Given the description of an element on the screen output the (x, y) to click on. 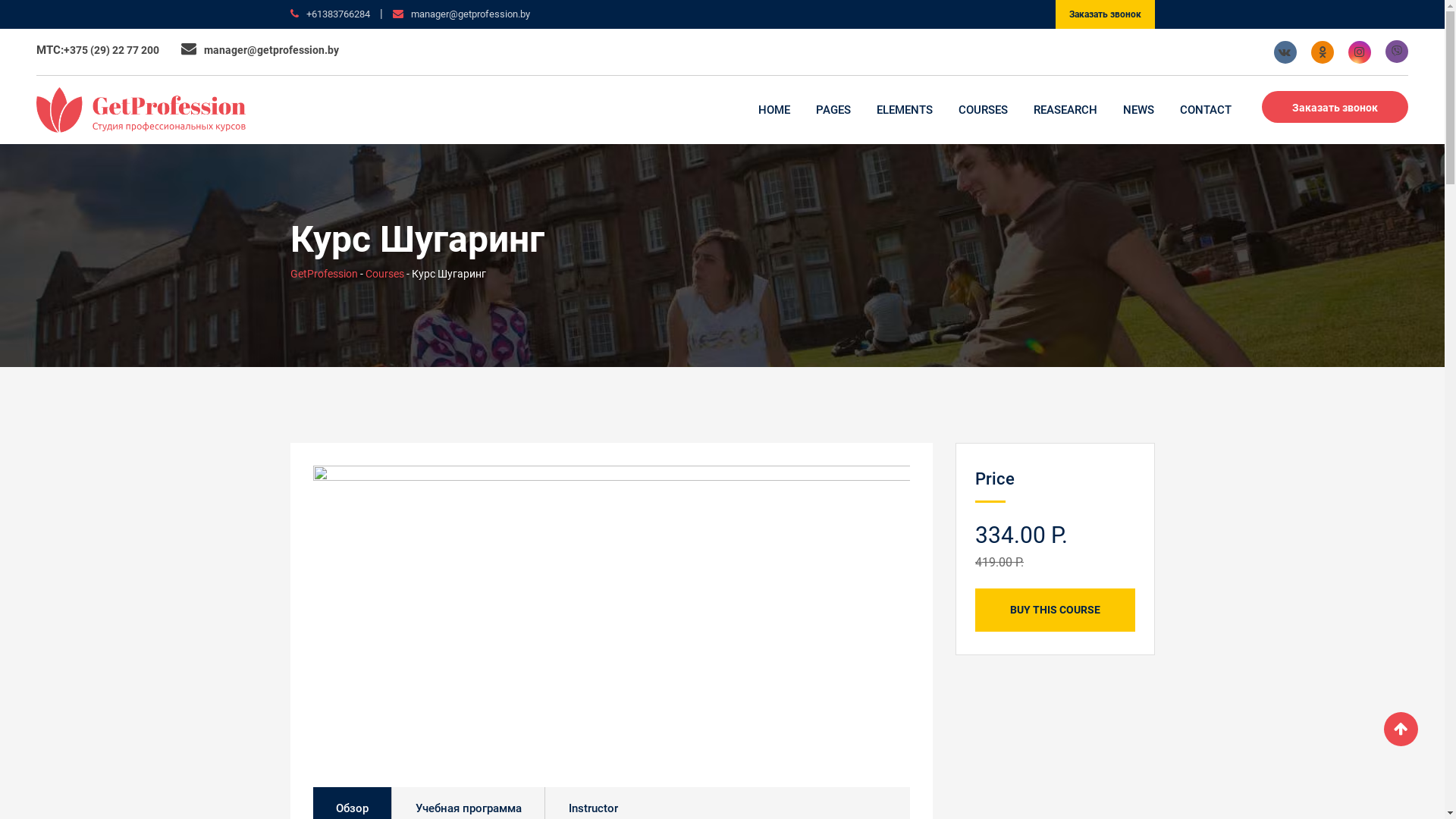
NEWS Element type: text (1138, 109)
+61383766284 Element type: text (338, 13)
HOME Element type: text (773, 109)
COURSES Element type: text (983, 109)
Courses Element type: text (384, 273)
REASEARCH Element type: text (1065, 109)
BUY THIS COURSE Element type: text (1055, 609)
manager@getprofession.by Element type: text (270, 49)
+375 (29) 22 77 200 Element type: text (111, 49)
GetProfession Element type: text (323, 273)
PAGES Element type: text (833, 109)
ELEMENTS Element type: text (904, 109)
manager@getprofession.by Element type: text (470, 13)
CONTACT Element type: text (1205, 109)
